Given the description of an element on the screen output the (x, y) to click on. 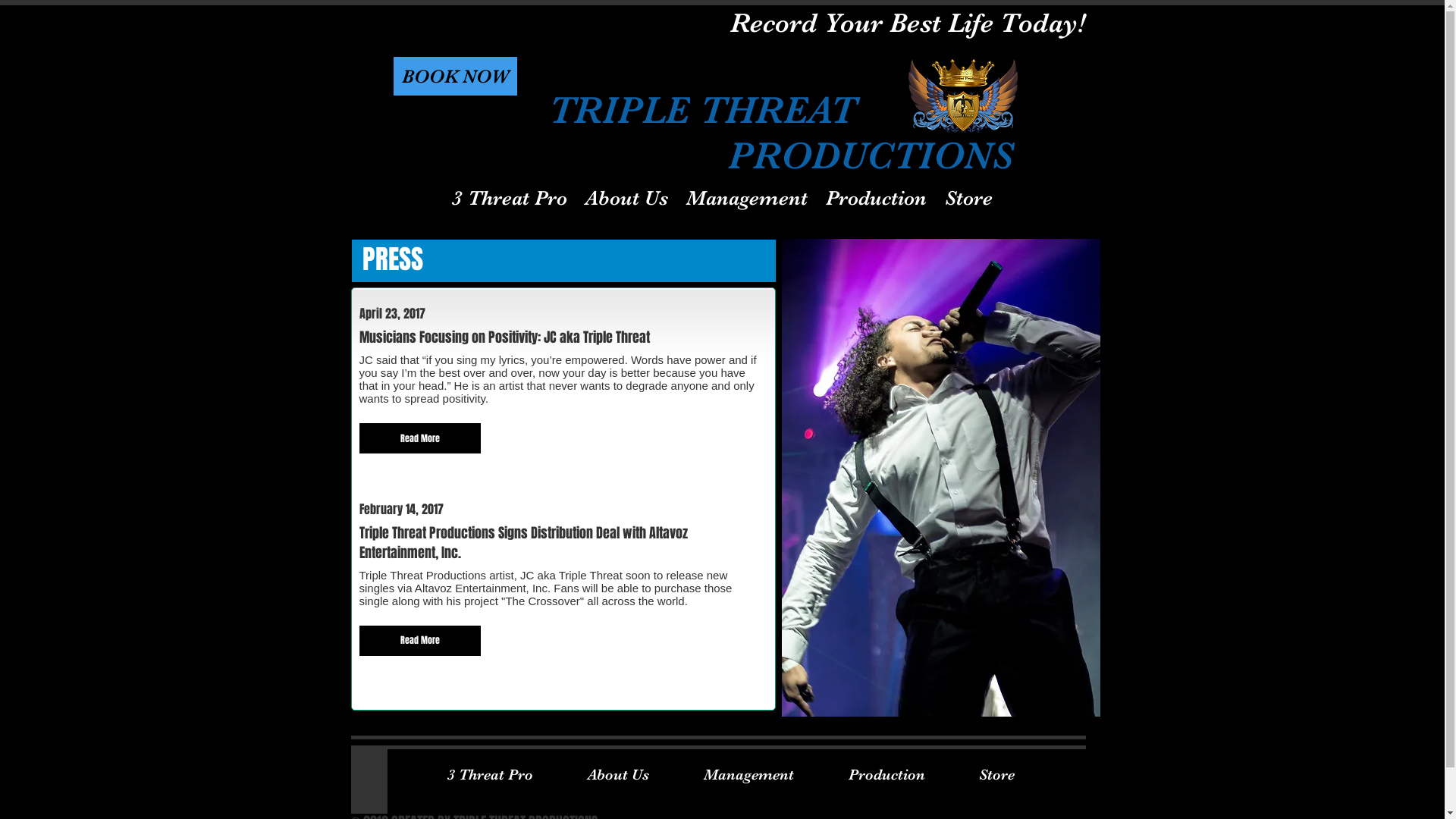
T-3 Logo 2016 (1).png Element type: hover (962, 95)
Read More Element type: text (419, 640)
3 Threat Pro Element type: text (509, 197)
Read More Element type: text (419, 438)
About Us Element type: text (617, 774)
Management Element type: text (748, 774)
3 Threat Pro Element type: text (490, 774)
About Us Element type: text (626, 197)
Musicians Focusing on Positivity: JC aka Triple Threat Element type: text (562, 337)
Production Element type: text (885, 774)
Store Element type: text (968, 197)
Management Element type: text (746, 197)
Store Element type: text (996, 774)
Production Element type: text (875, 197)
